Given the description of an element on the screen output the (x, y) to click on. 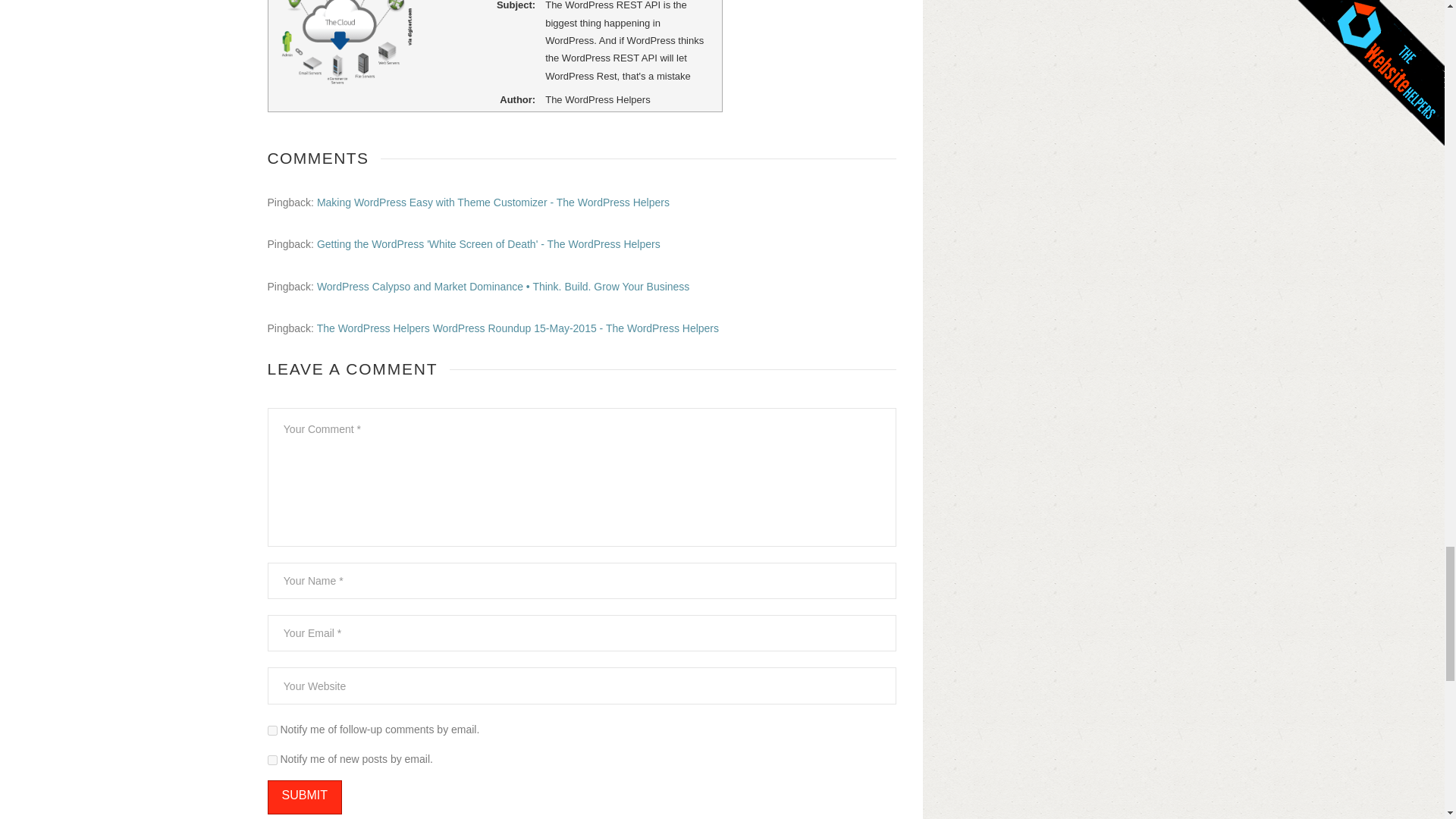
subscribe (271, 759)
subscribe (271, 730)
Submit (303, 797)
